Given the description of an element on the screen output the (x, y) to click on. 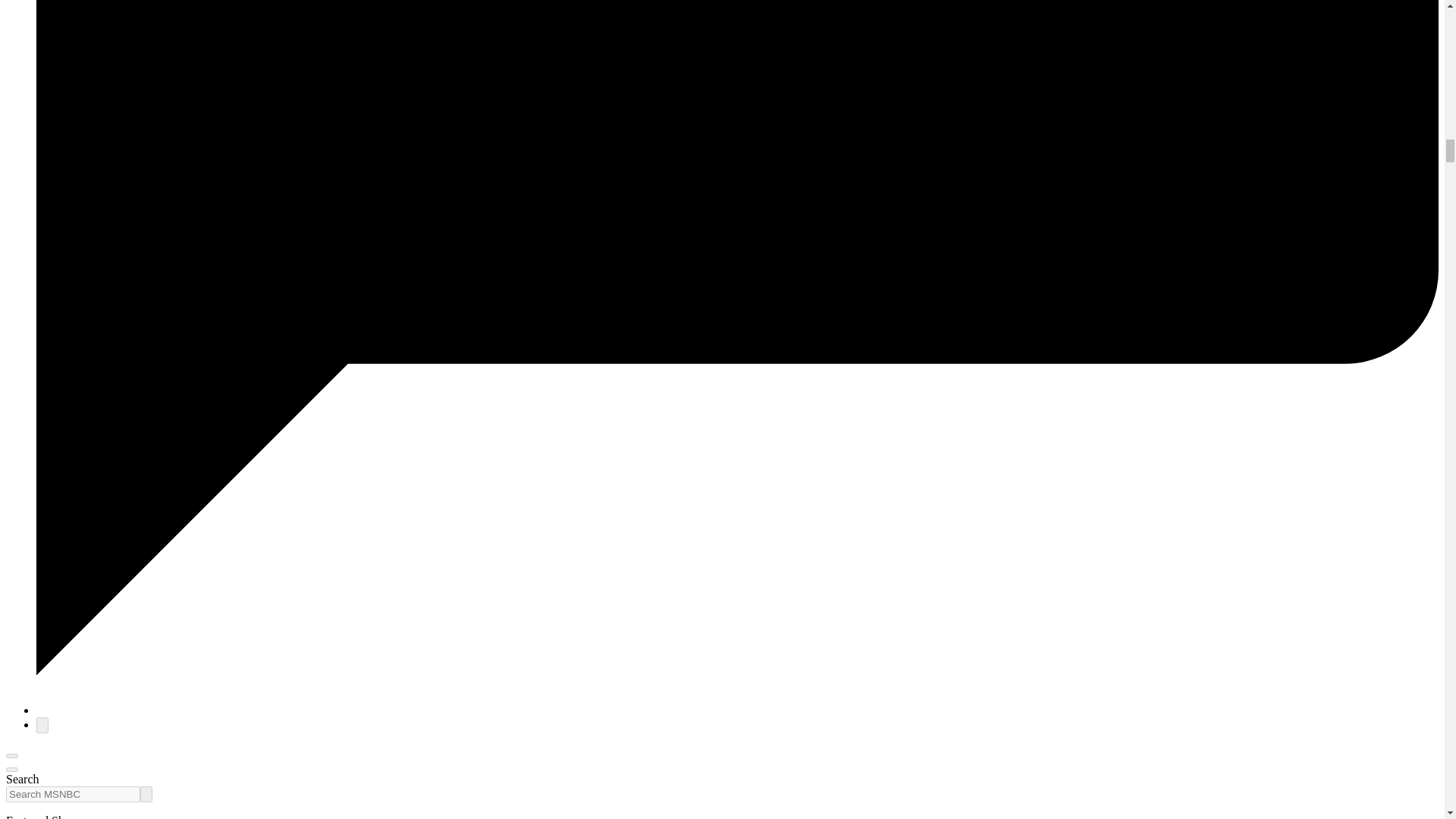
Search (145, 794)
